Given the description of an element on the screen output the (x, y) to click on. 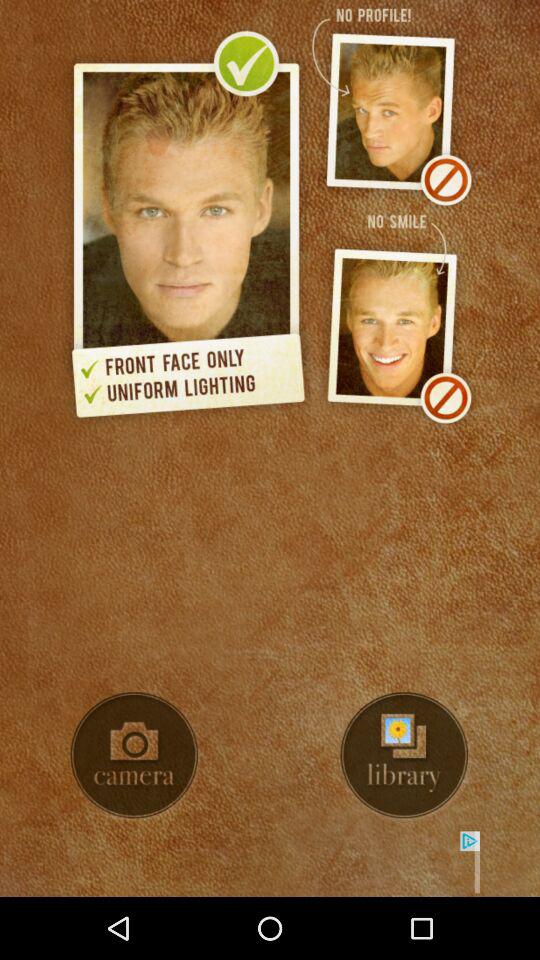
library (404, 755)
